Given the description of an element on the screen output the (x, y) to click on. 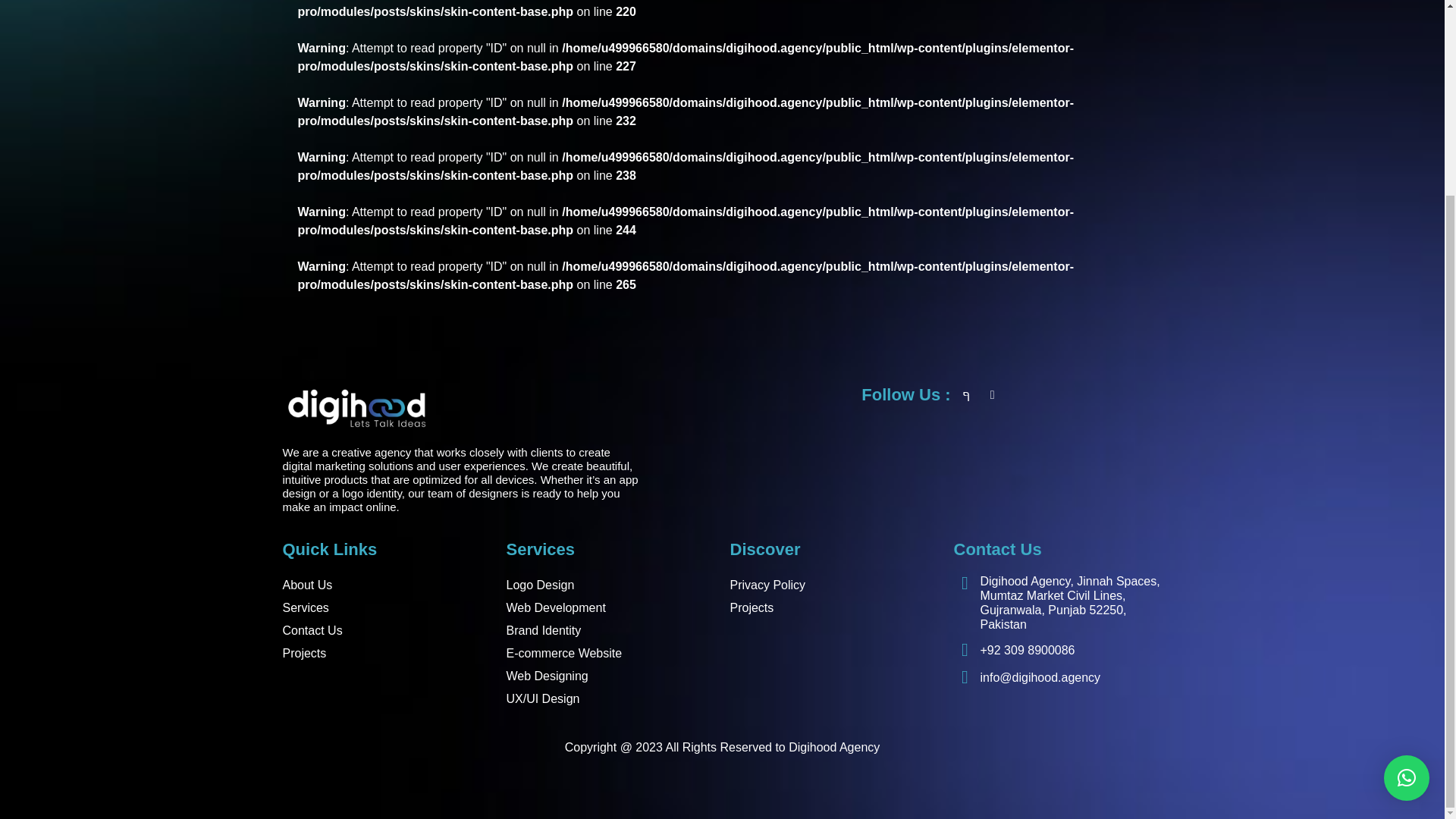
About Us (386, 585)
Contact Us (386, 630)
Services (386, 608)
